Given the description of an element on the screen output the (x, y) to click on. 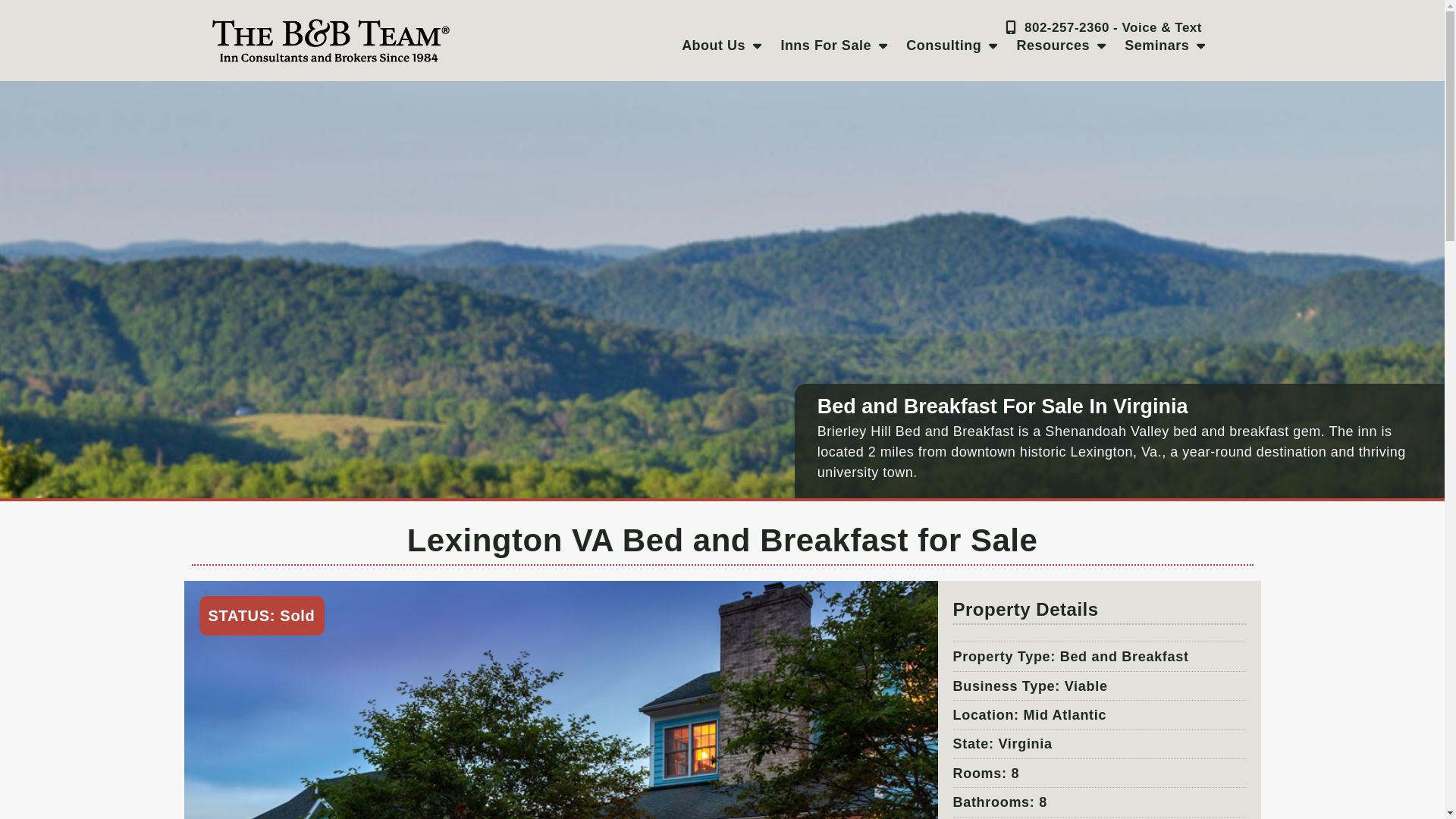
Resources (1061, 45)
About Us (721, 45)
Consulting (951, 45)
Seminars (1164, 45)
Inns For Sale (834, 45)
